Given the description of an element on the screen output the (x, y) to click on. 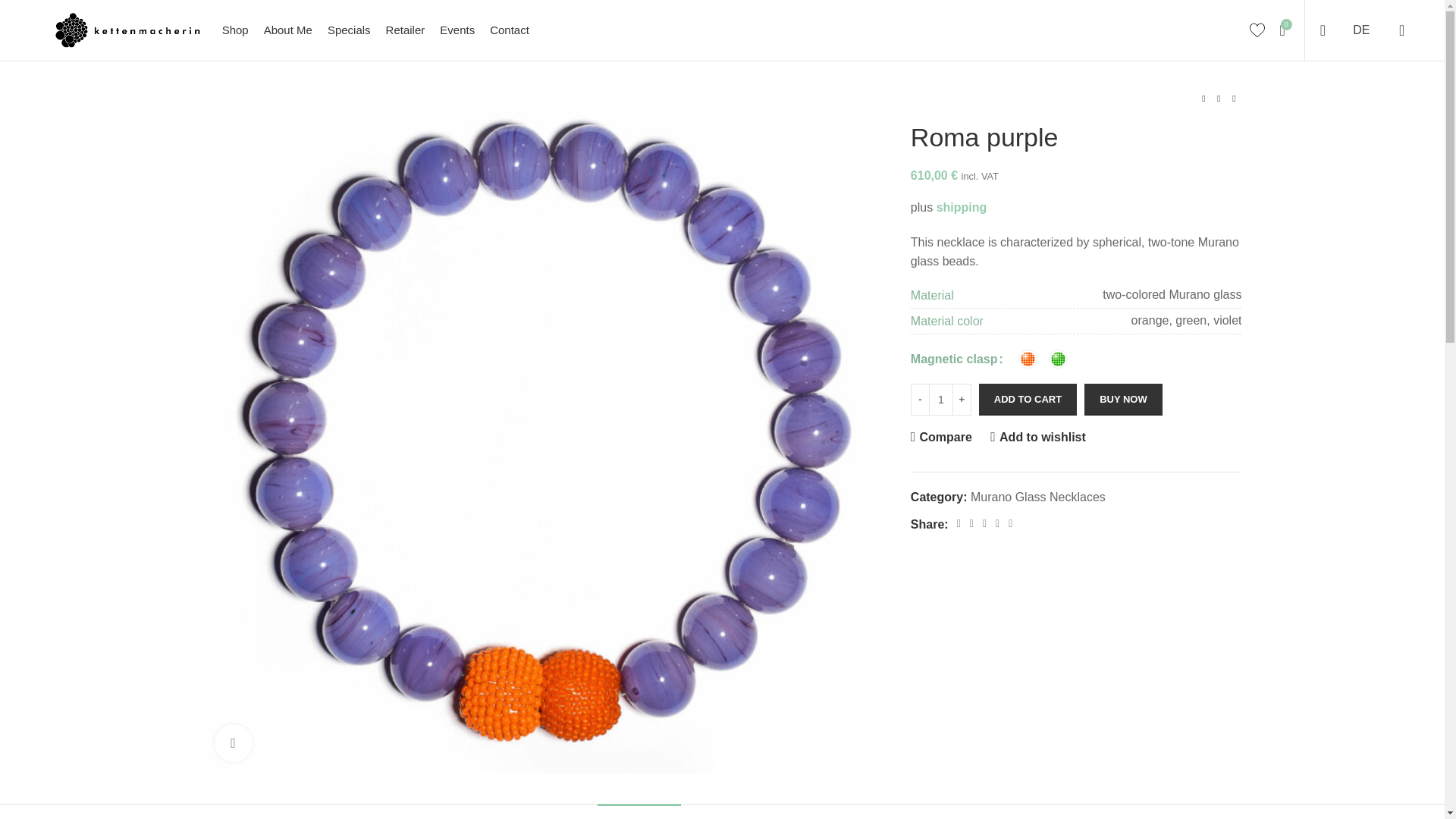
Retailer (405, 30)
BUY NOW (1122, 399)
My Wishlist (1256, 30)
DE (1361, 29)
Murano Glass Necklaces (1038, 496)
ADD TO CART (722, 30)
Events (1027, 399)
About Me (456, 30)
Add to wishlist (288, 30)
shipping (1037, 437)
Specials (961, 206)
Contact (349, 30)
Compare (509, 30)
